Given the description of an element on the screen output the (x, y) to click on. 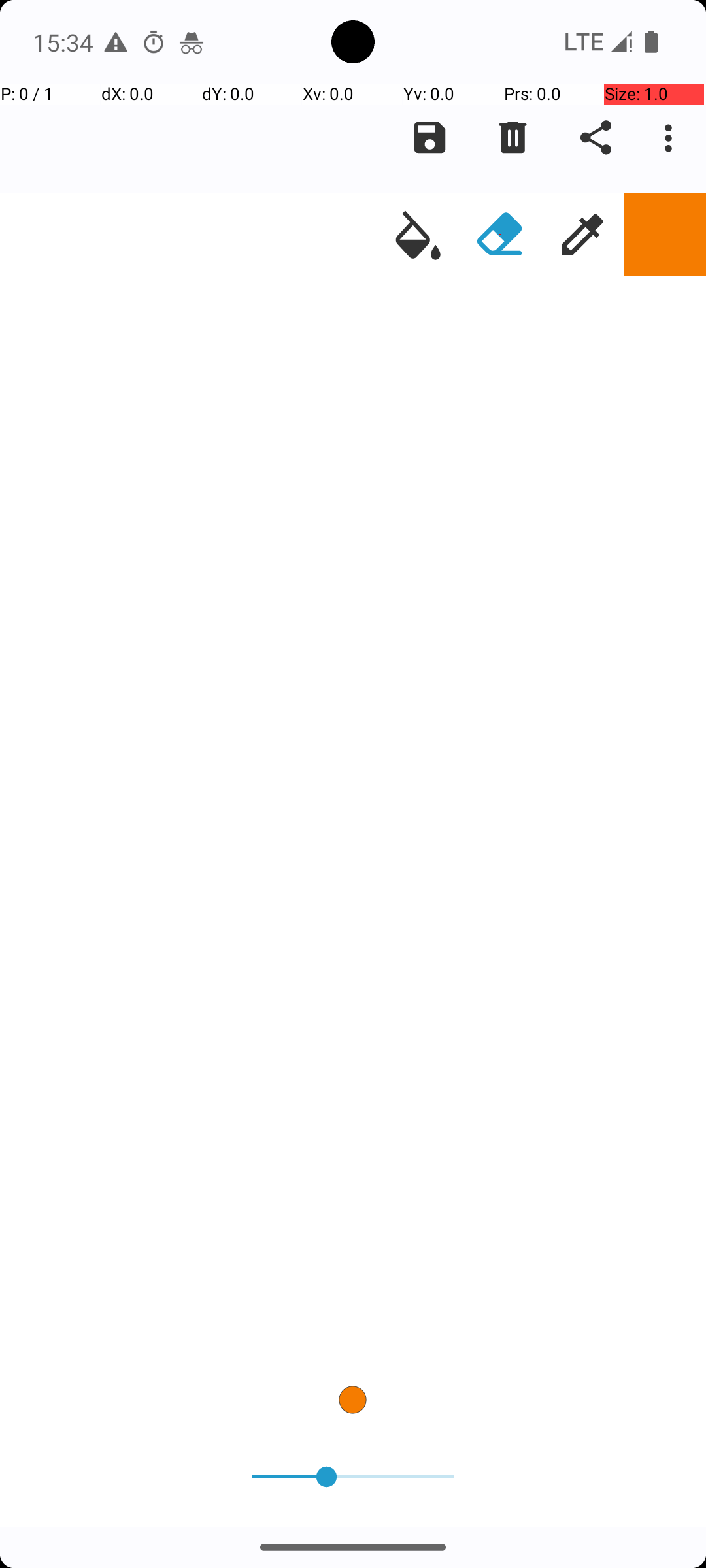
Clear Element type: android.widget.Button (512, 137)
Bucket fill Element type: android.widget.ImageView (417, 234)
Eraser Element type: android.widget.ImageView (499, 234)
Eyedropper Element type: android.widget.ImageView (582, 234)
Change color Element type: android.widget.ImageView (664, 234)
